Given the description of an element on the screen output the (x, y) to click on. 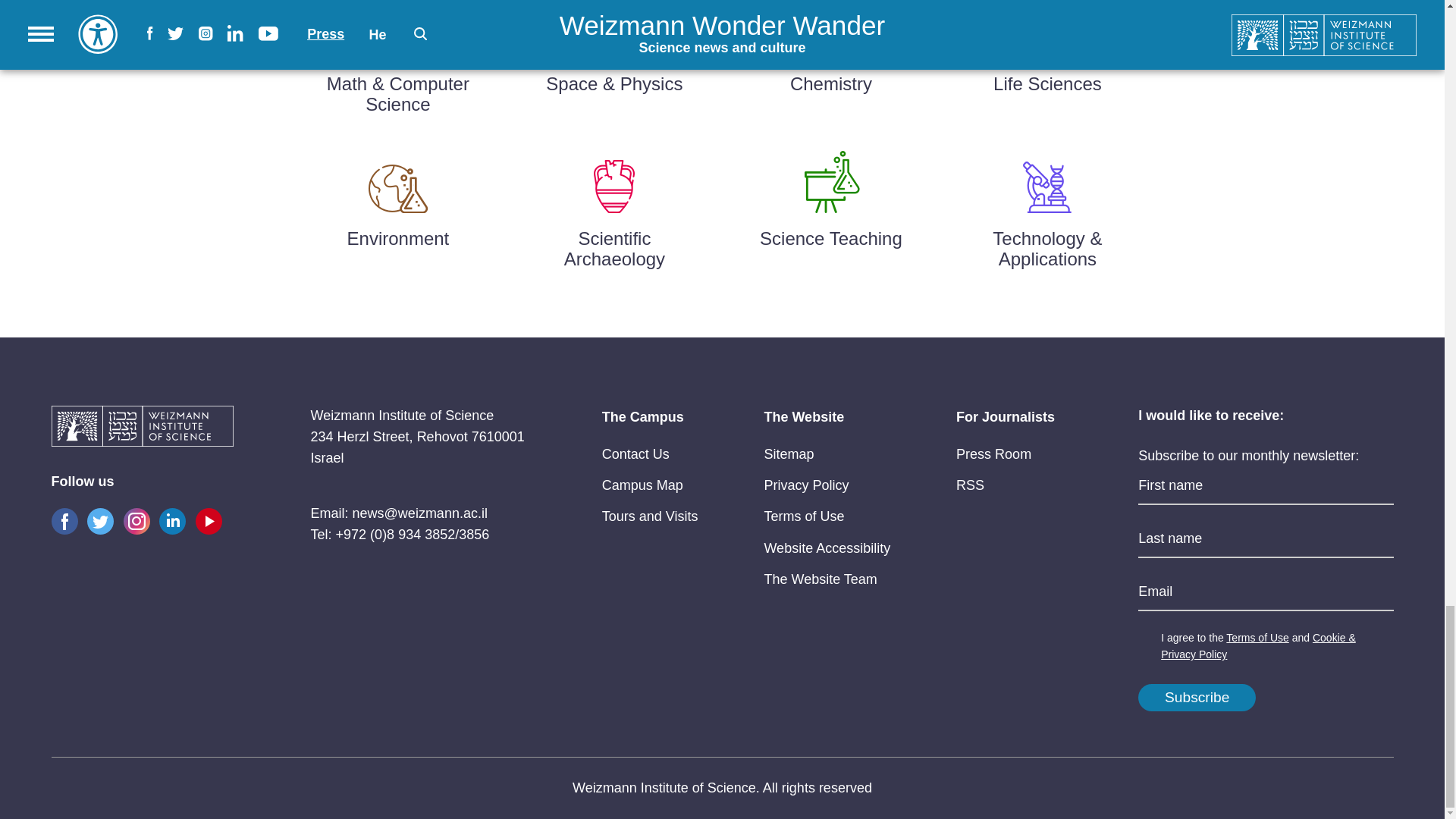
opens in a new window (803, 516)
Weizmann Institute of Science Homepage (141, 427)
Subscribe (1196, 697)
1 (1147, 638)
opens in a new window (805, 485)
opens in a new window (642, 485)
opens in a new window (635, 453)
